Given the description of an element on the screen output the (x, y) to click on. 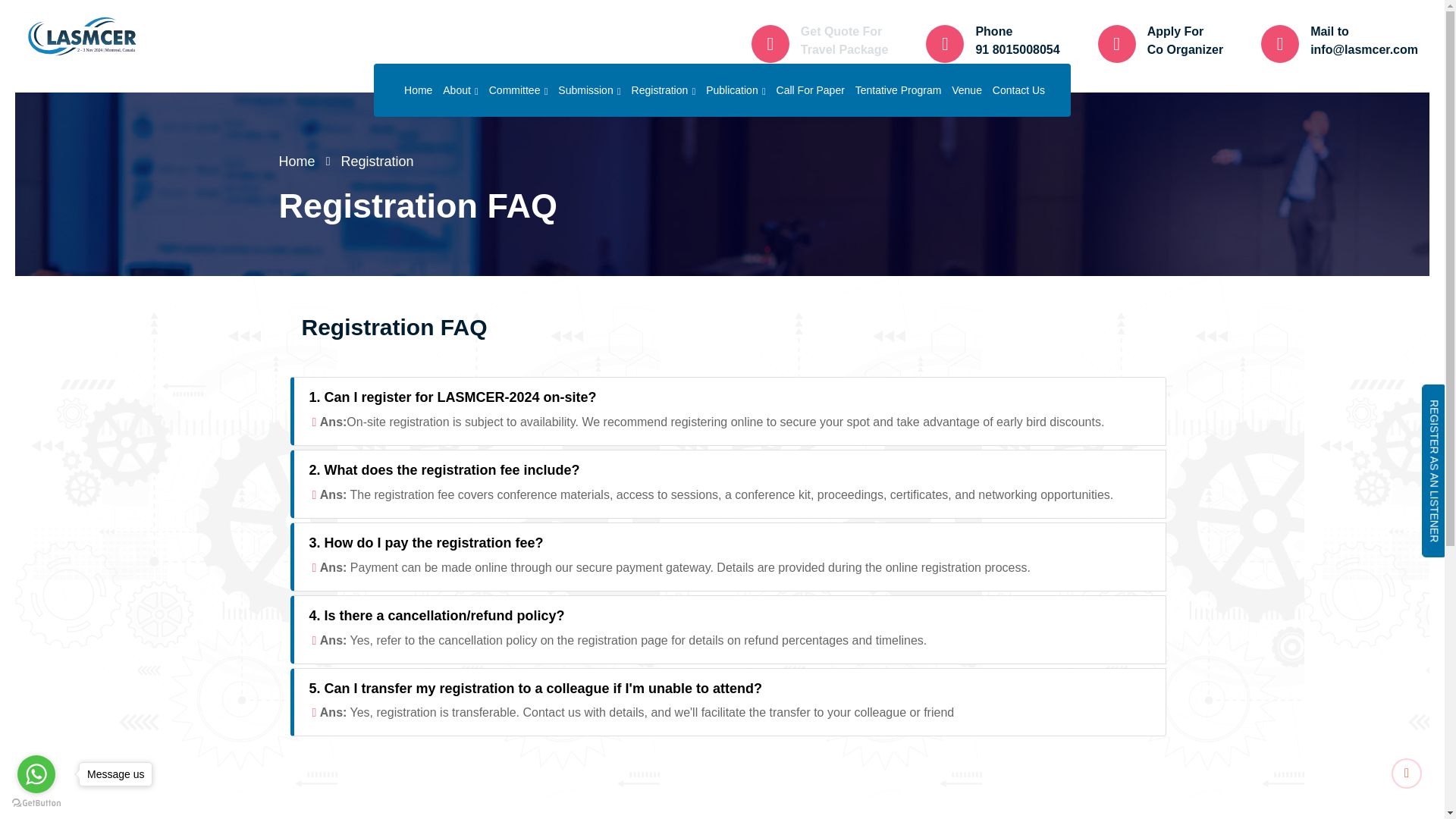
Submission (588, 90)
Call For Paper (810, 90)
Registration (663, 90)
Tentative Program (899, 90)
Committee (518, 90)
Publication (735, 90)
